Given the description of an element on the screen output the (x, y) to click on. 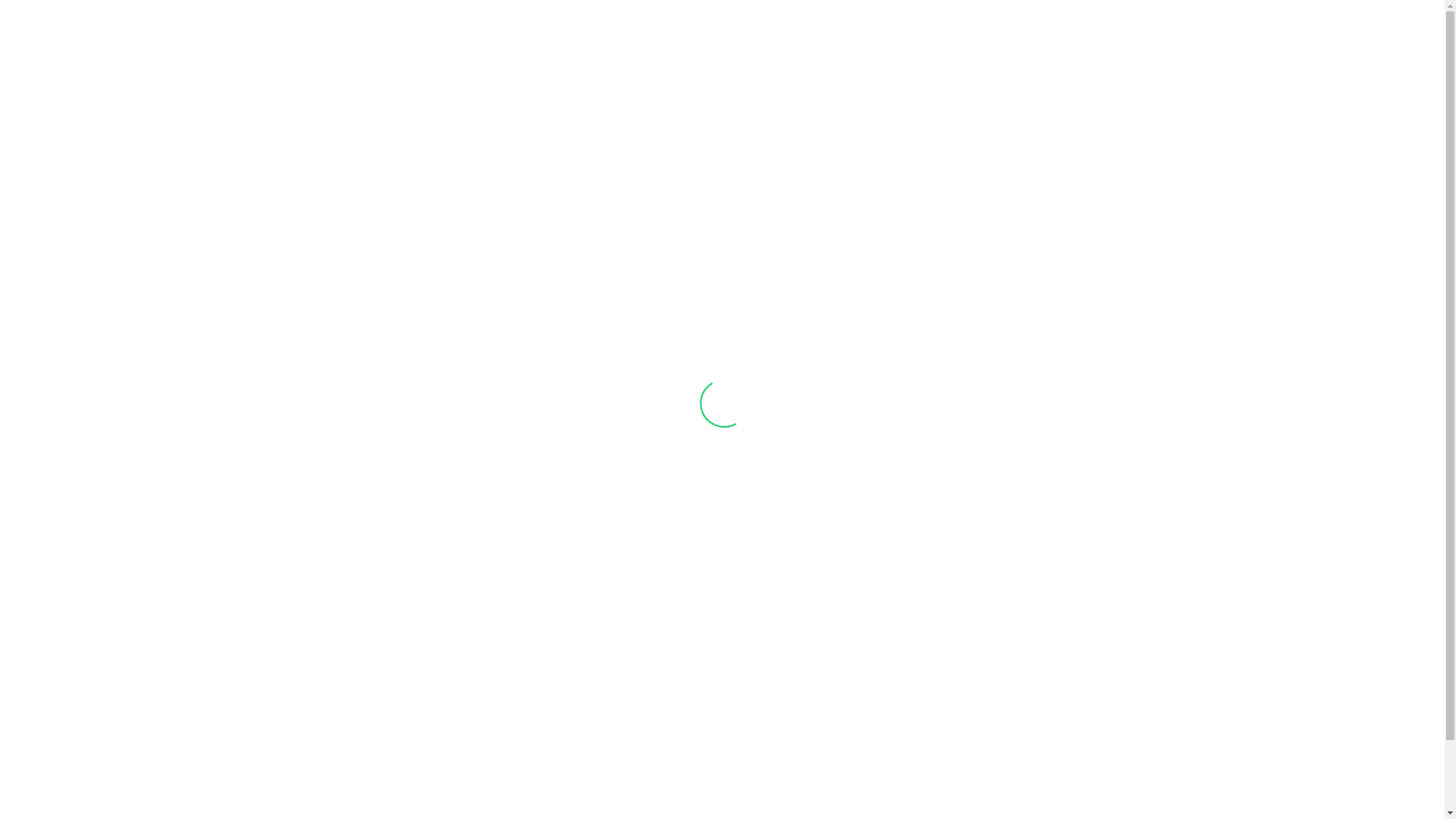
Search Element type: text (1109, 33)
HOME PAGE Element type: text (654, 119)
Need Design Support? Element type: text (834, 738)
Our Services Element type: text (834, 756)
DESIGN SHOP Element type: text (967, 32)
Design Resources Element type: text (834, 721)
GET DESIGN IDEAS Element type: text (762, 32)
SUPPORT Element type: text (1041, 32)
START A PROJECT Element type: text (869, 32)
More info Element type: text (1137, 33)
Lonely Beach Element type: text (993, 728)
Old Rock Element type: text (983, 771)
Our Story Element type: text (834, 685)
Submit Creative Works Element type: text (834, 703)
Contact Element type: text (834, 774)
info@1stcreativedesigner.com Element type: text (608, 789)
PREVIOUS PAGE Element type: text (884, 119)
NEED A DESIGN Element type: text (662, 32)
Hello world! Element type: text (988, 685)
DESIGN SERVICES Element type: text (563, 32)
